Given the description of an element on the screen output the (x, y) to click on. 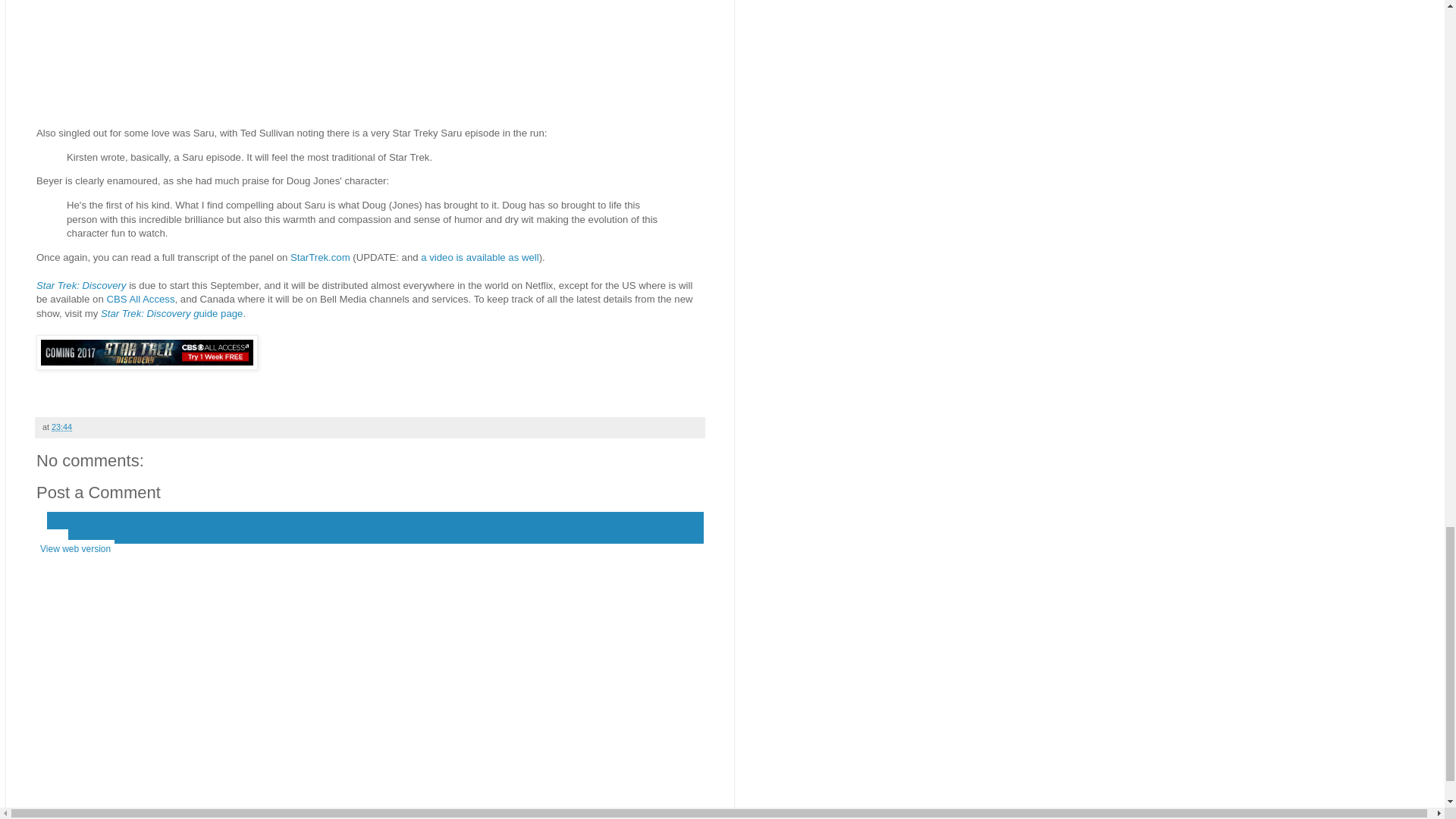
Post a Comment (98, 492)
a video is available as well (479, 256)
View web version (75, 548)
Home (52, 538)
StarTrek.com (319, 256)
permanent link (60, 426)
Star Trek: Discovery (80, 285)
Advertisement (369, 59)
Star Trek: Discovery guide page (171, 313)
CBS All Access (140, 298)
23:44 (60, 426)
